Given the description of an element on the screen output the (x, y) to click on. 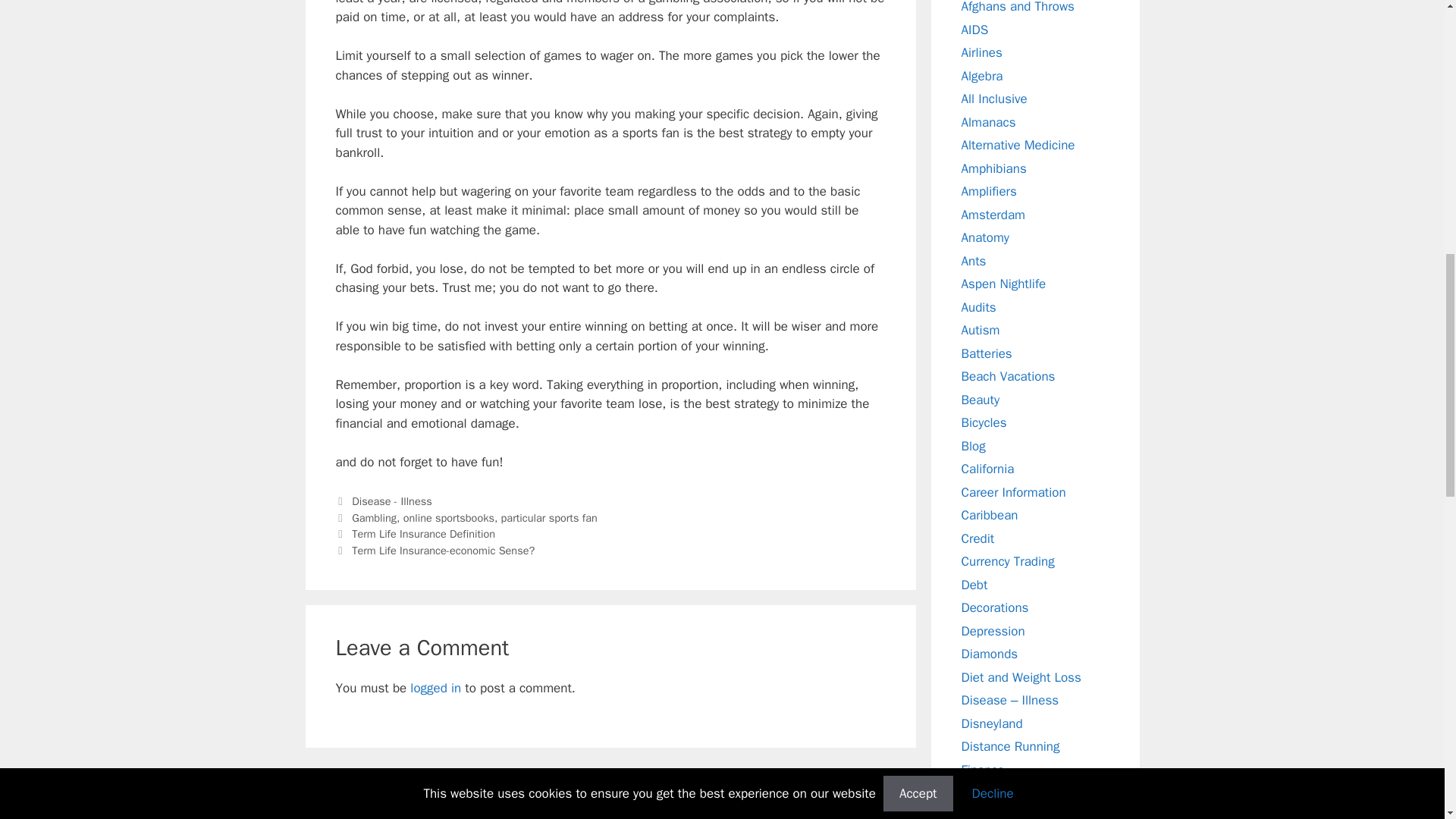
Airlines (981, 52)
Term Life Insurance-economic Sense? (443, 550)
Amplifiers (988, 191)
Gambling (374, 517)
Algebra (981, 75)
Amsterdam (993, 213)
Aspen Nightlife (1003, 283)
particular sports fan (548, 517)
online sportsbooks (449, 517)
AIDS (974, 28)
All Inclusive (993, 98)
Almanacs (988, 121)
Amphibians (993, 168)
Disease - Illness (392, 500)
Alternative Medicine (1017, 145)
